Given the description of an element on the screen output the (x, y) to click on. 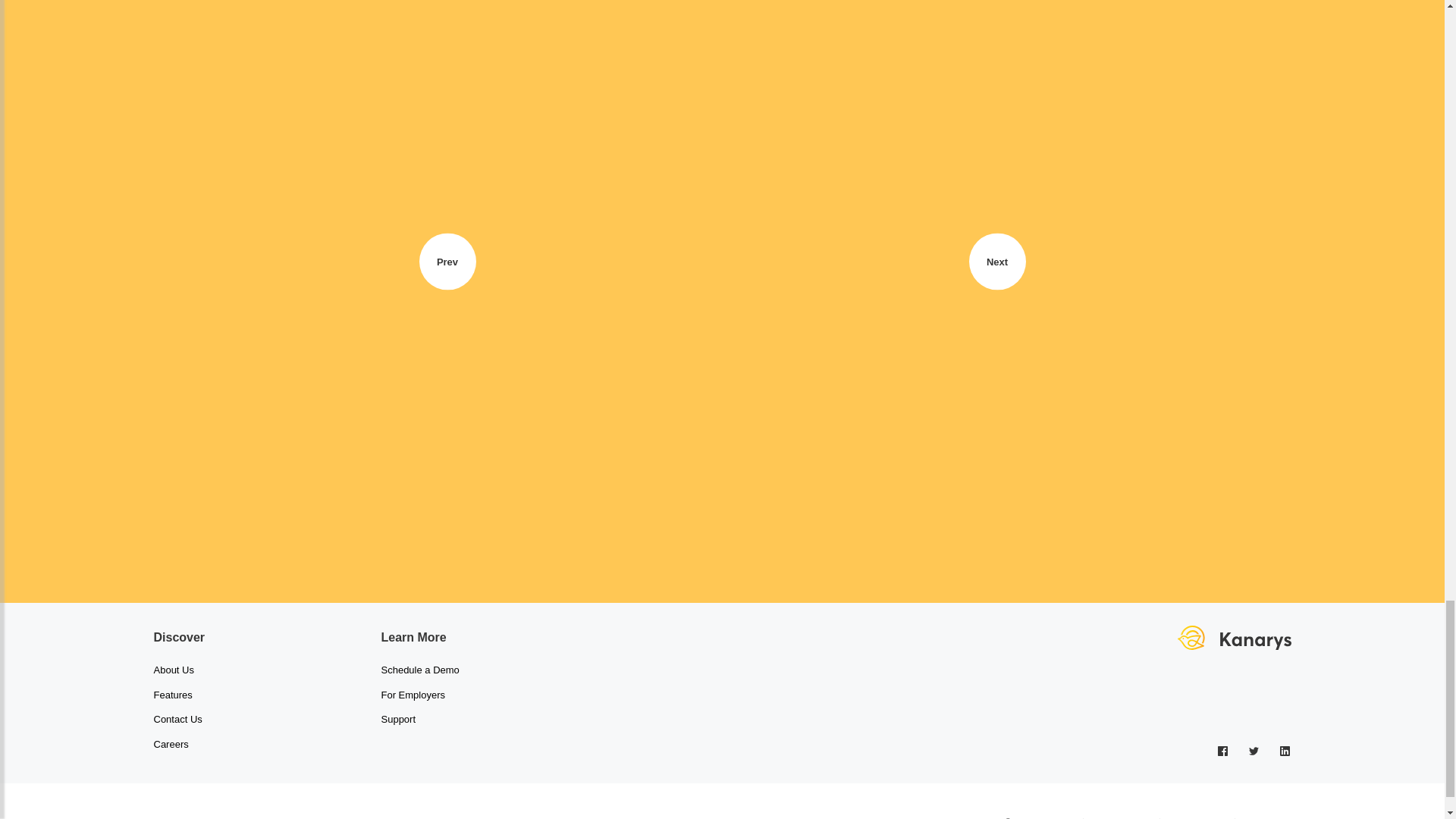
Prev (447, 260)
About Us (172, 669)
Next (997, 260)
